Given the description of an element on the screen output the (x, y) to click on. 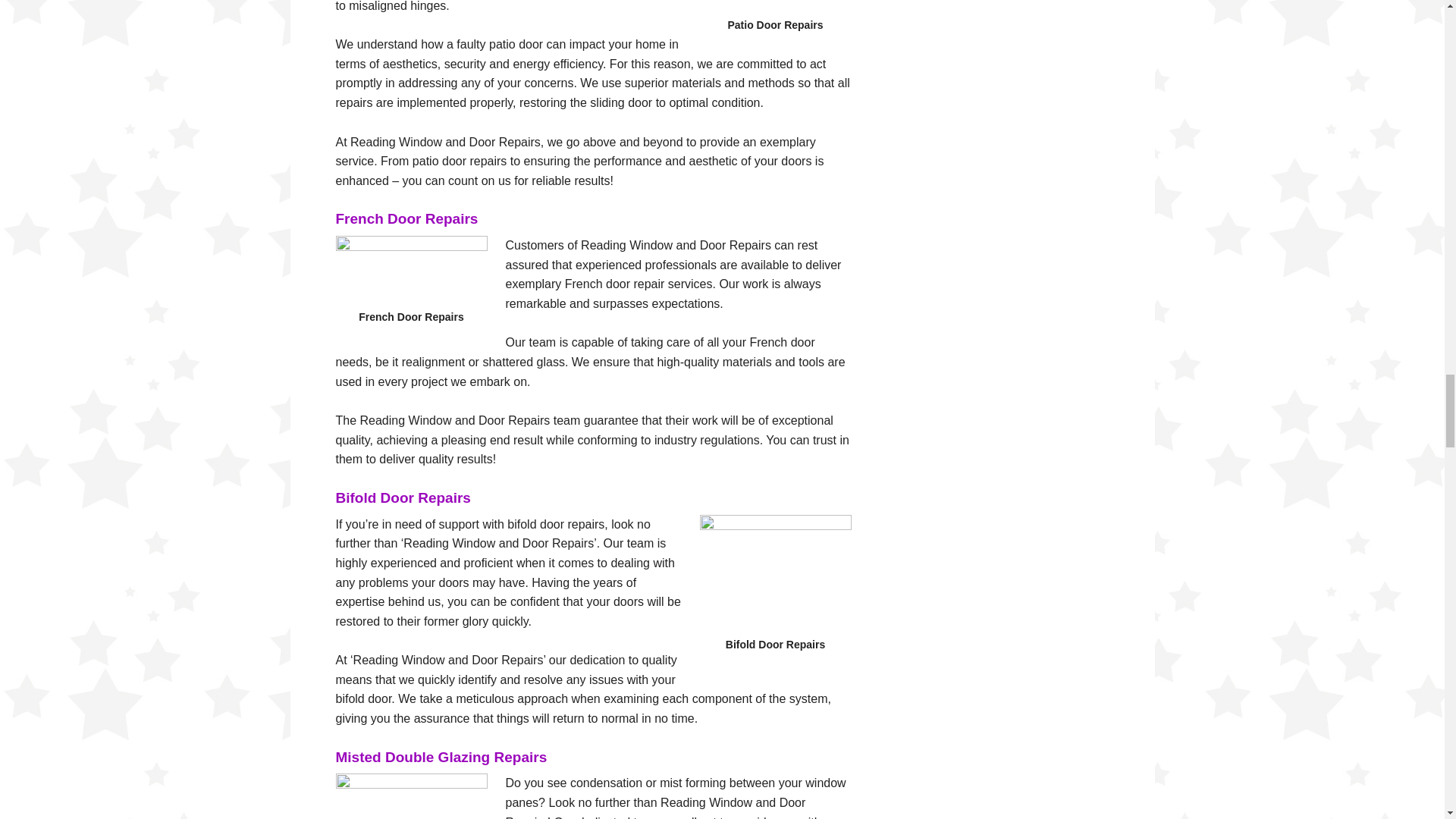
Bifold Door Repairs near Reading (774, 577)
Patio Door Repairs near Reading (774, 9)
Misted Double Glazing Repairs near Reading (410, 796)
French Door Repairs near Reading (410, 273)
